Given the description of an element on the screen output the (x, y) to click on. 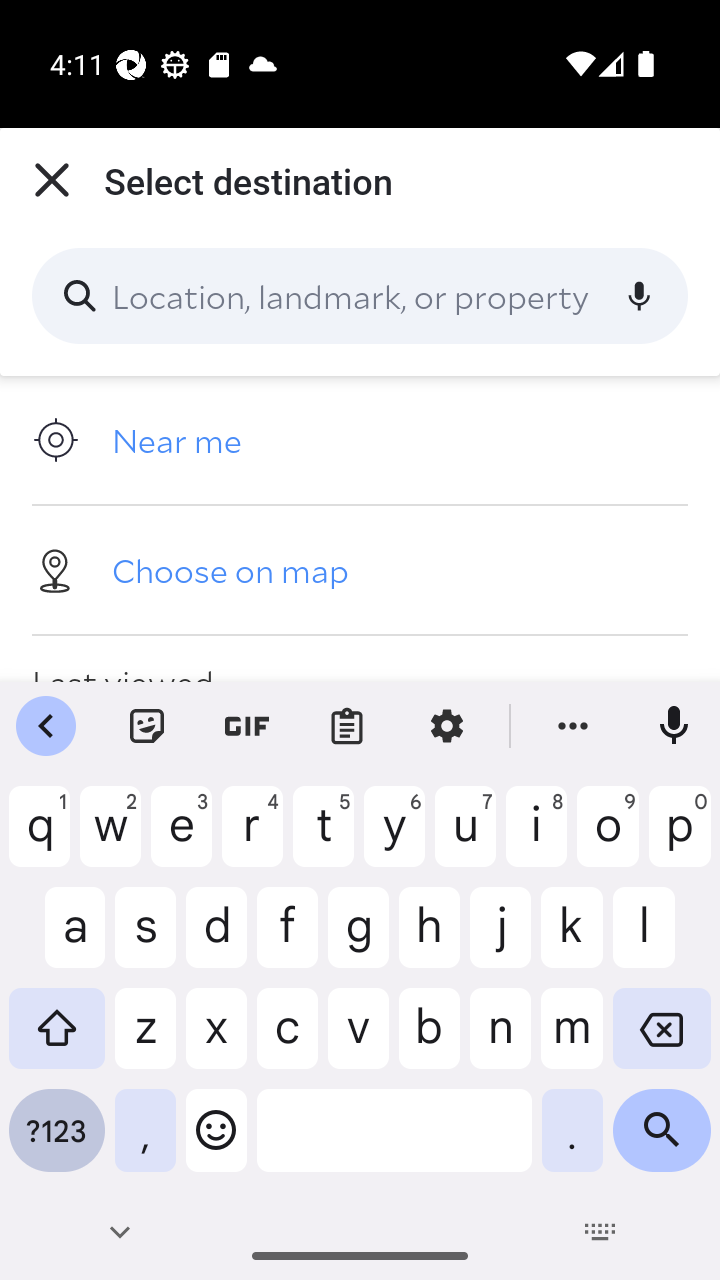
Location, landmark, or property (359, 296)
Near me (360, 440)
Choose on map (360, 569)
